Given the description of an element on the screen output the (x, y) to click on. 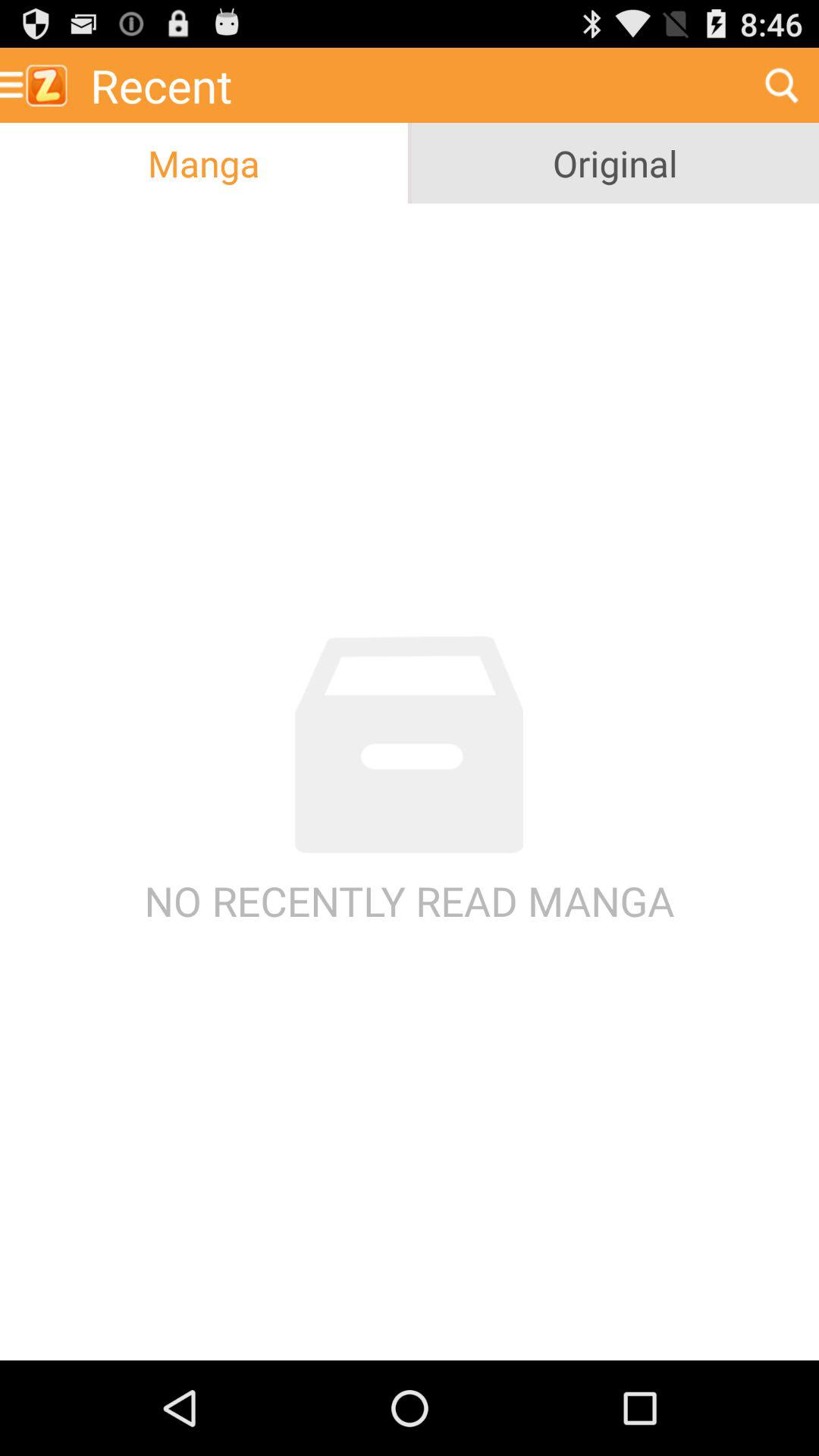
press the recent icon (411, 85)
